Given the description of an element on the screen output the (x, y) to click on. 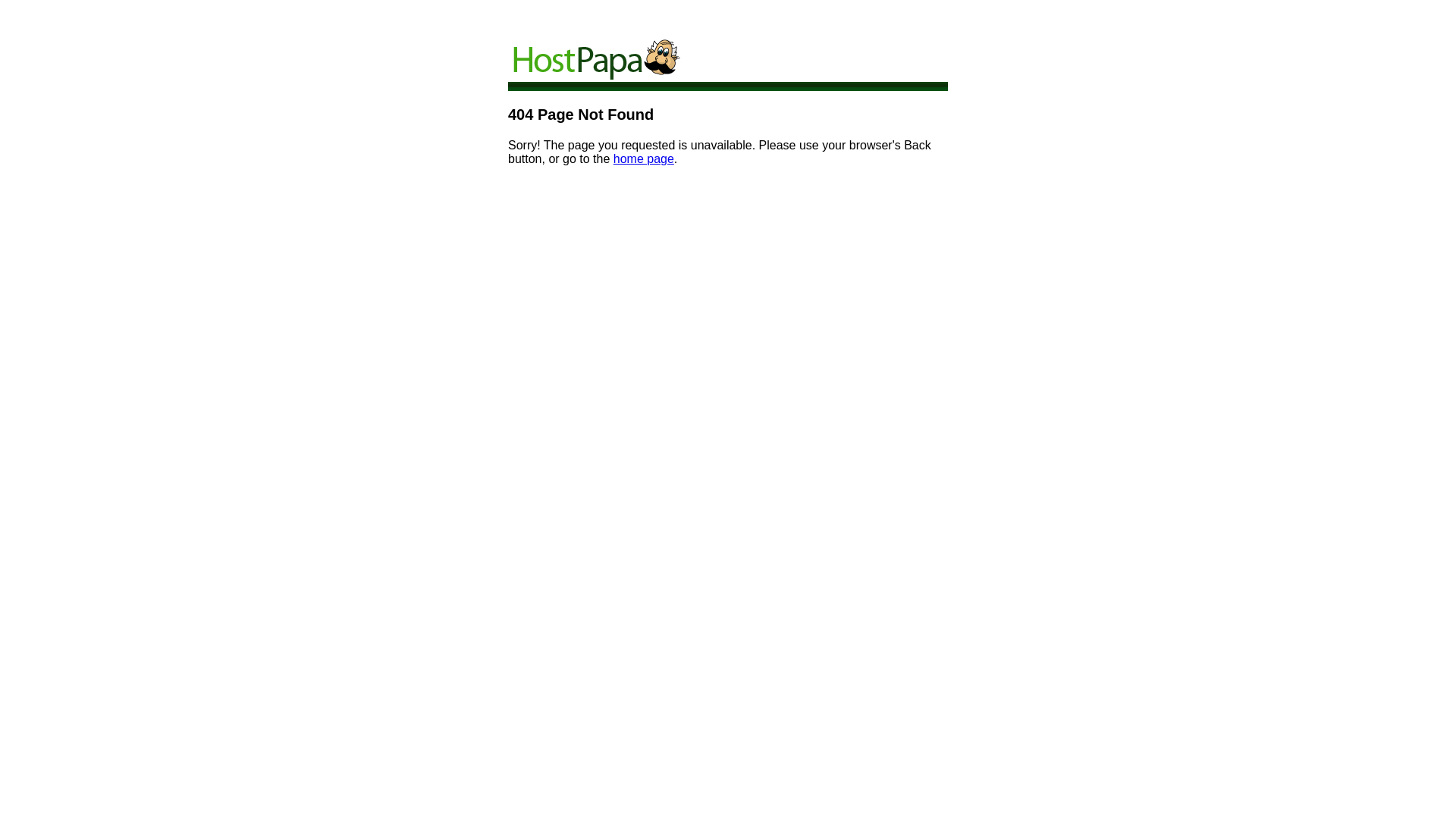
home page Element type: text (643, 158)
